Given the description of an element on the screen output the (x, y) to click on. 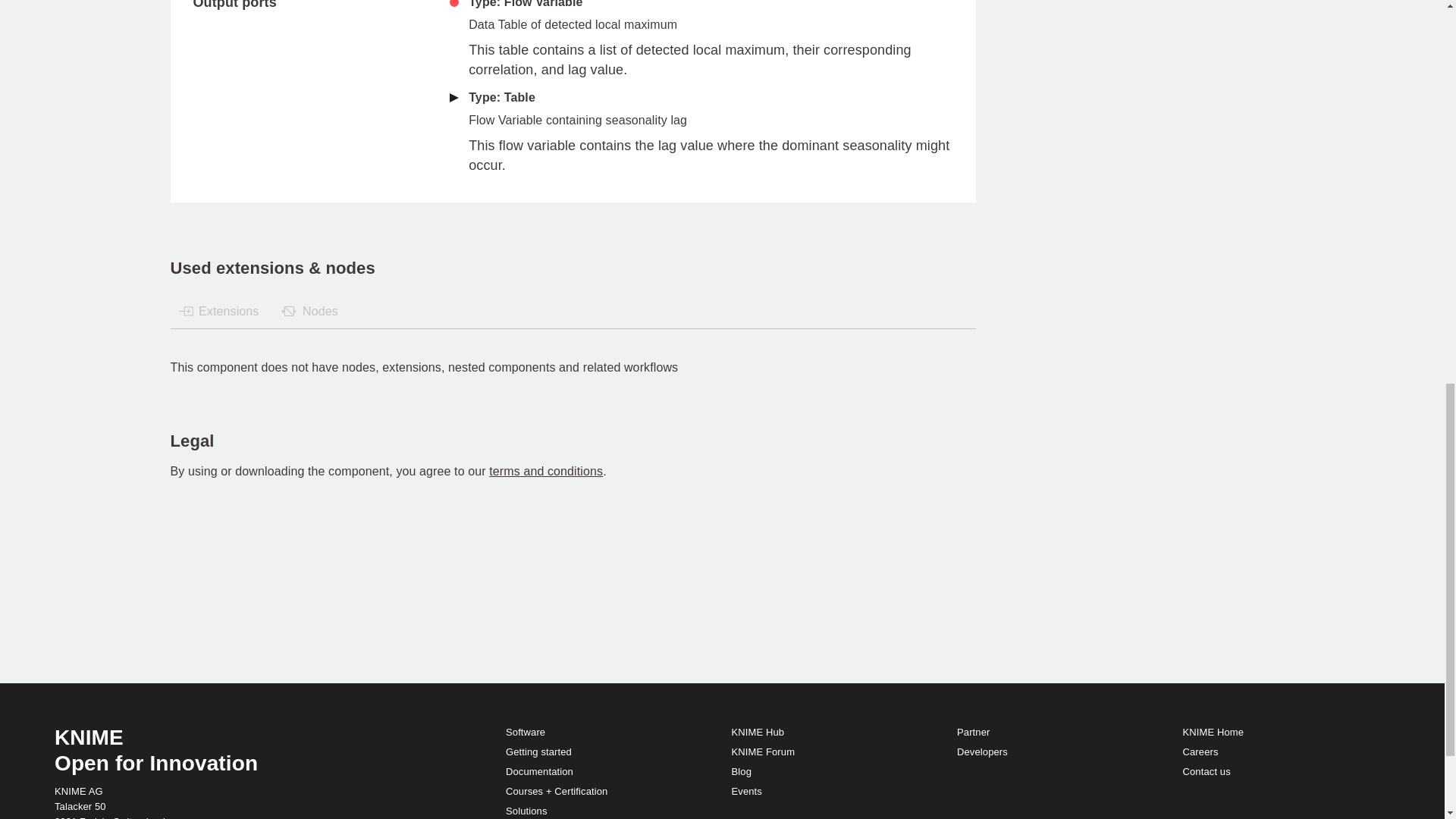
Careers (1200, 751)
Developers (981, 751)
Documentation (539, 771)
KNIME Forum (763, 751)
terms and conditions (545, 471)
Partner (973, 731)
KNIME Hub (758, 731)
KNIME Home (1213, 731)
Solutions (526, 810)
